Given the description of an element on the screen output the (x, y) to click on. 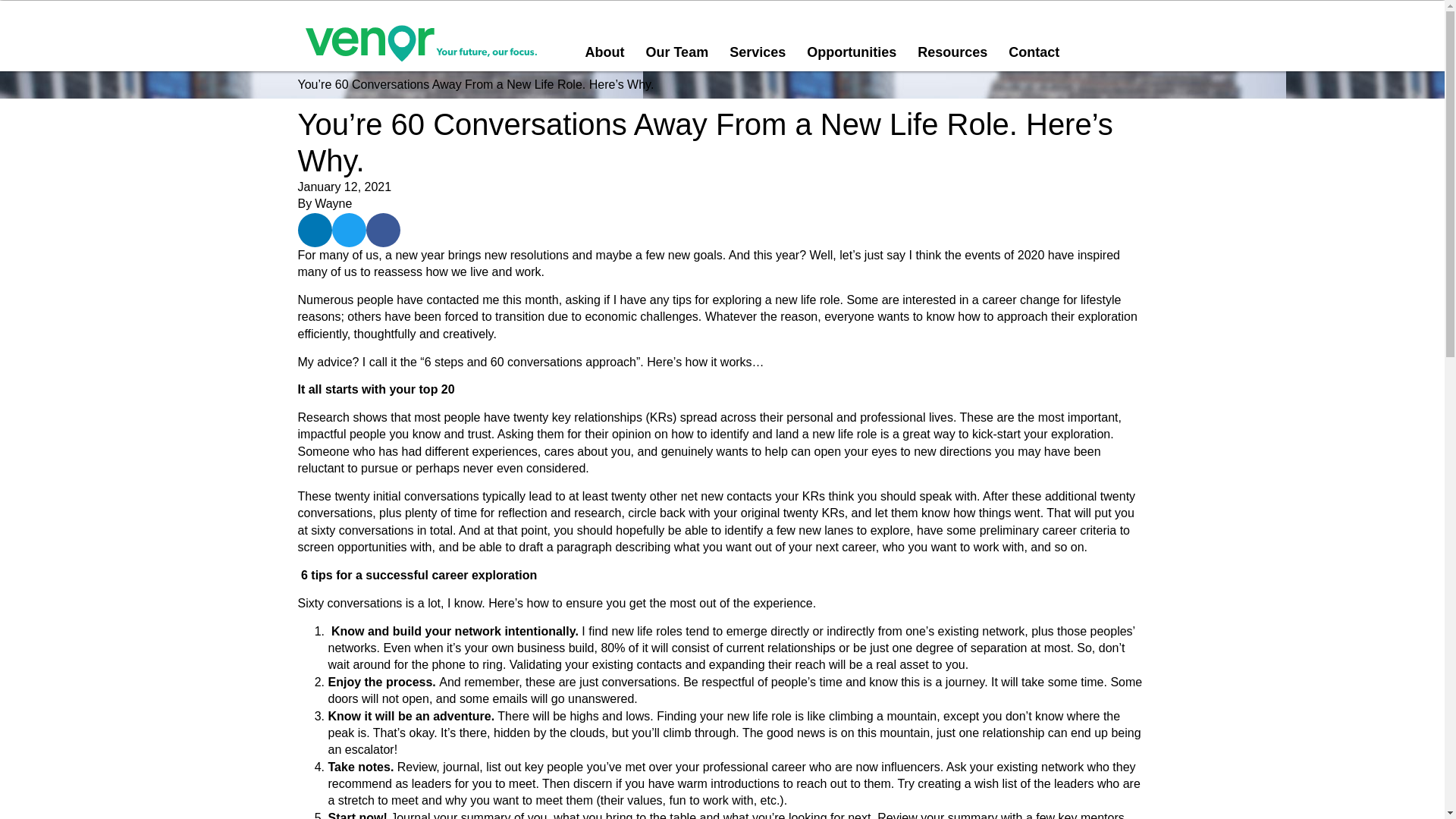
Contact (1033, 51)
Opportunities (851, 51)
Our Team (676, 51)
About (603, 51)
Resources (952, 51)
Wayne (333, 203)
Services (757, 51)
